Given the description of an element on the screen output the (x, y) to click on. 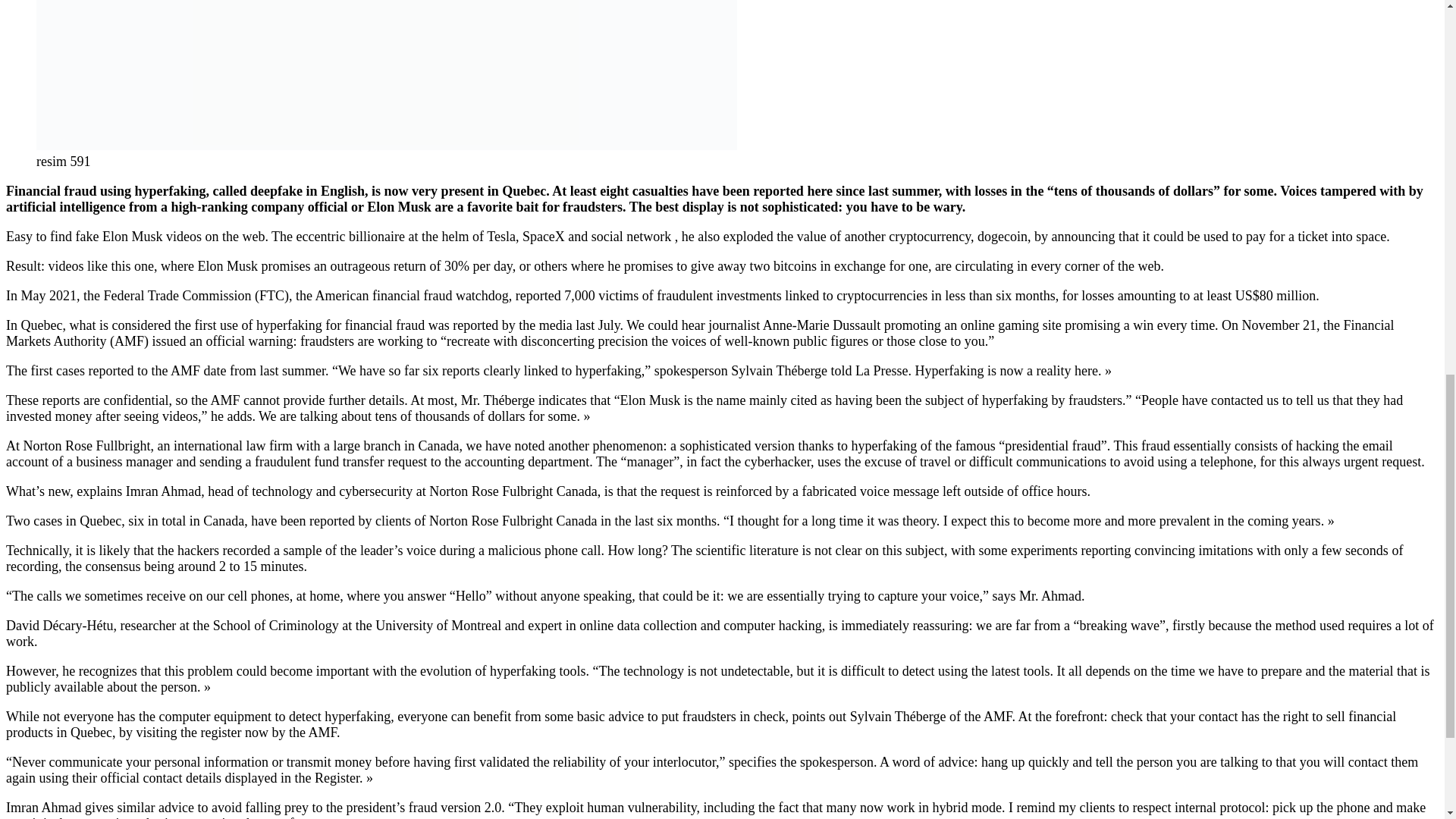
resim 591 (386, 74)
